Given the description of an element on the screen output the (x, y) to click on. 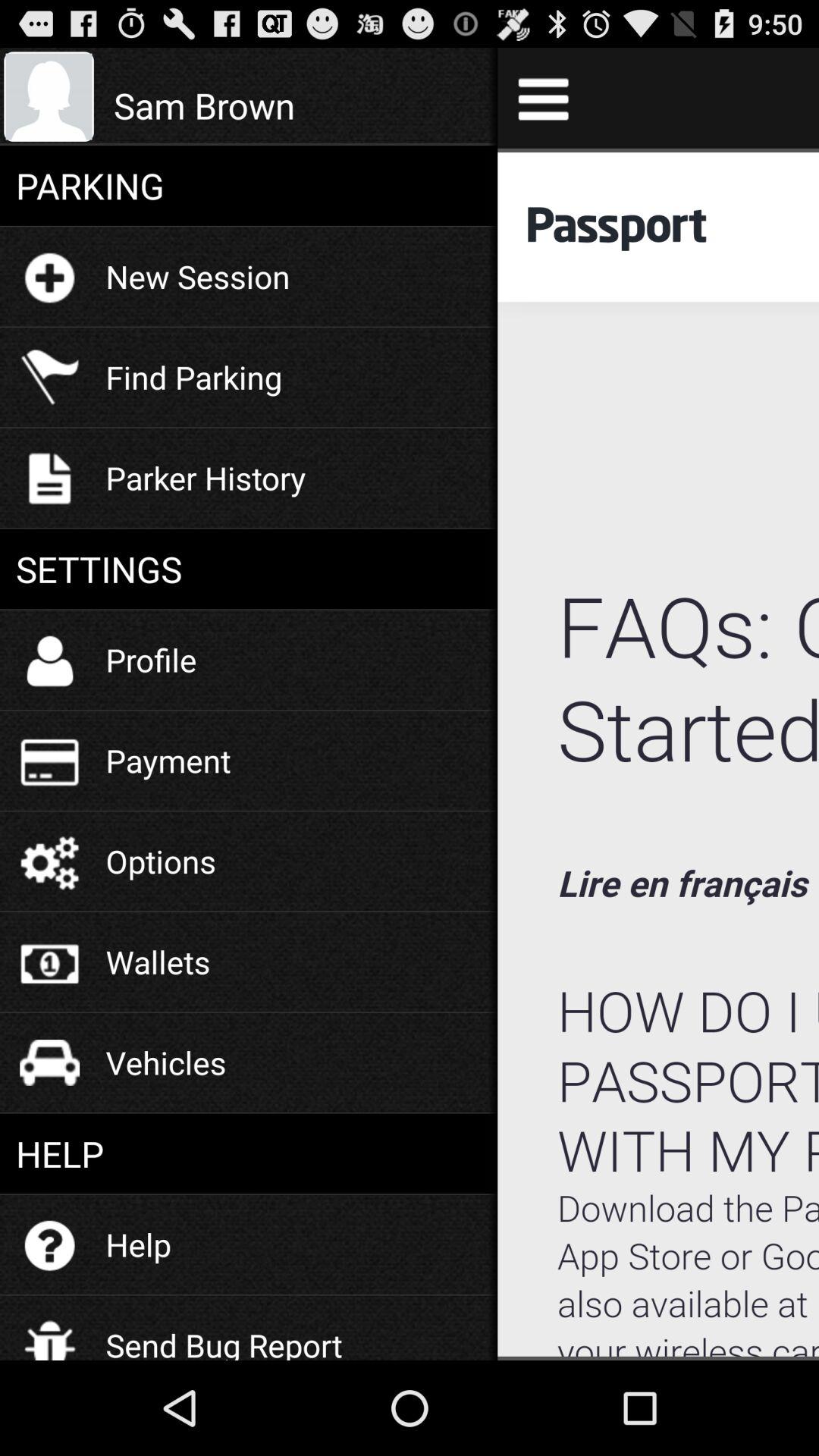
flip until the payment item (167, 759)
